Given the description of an element on the screen output the (x, y) to click on. 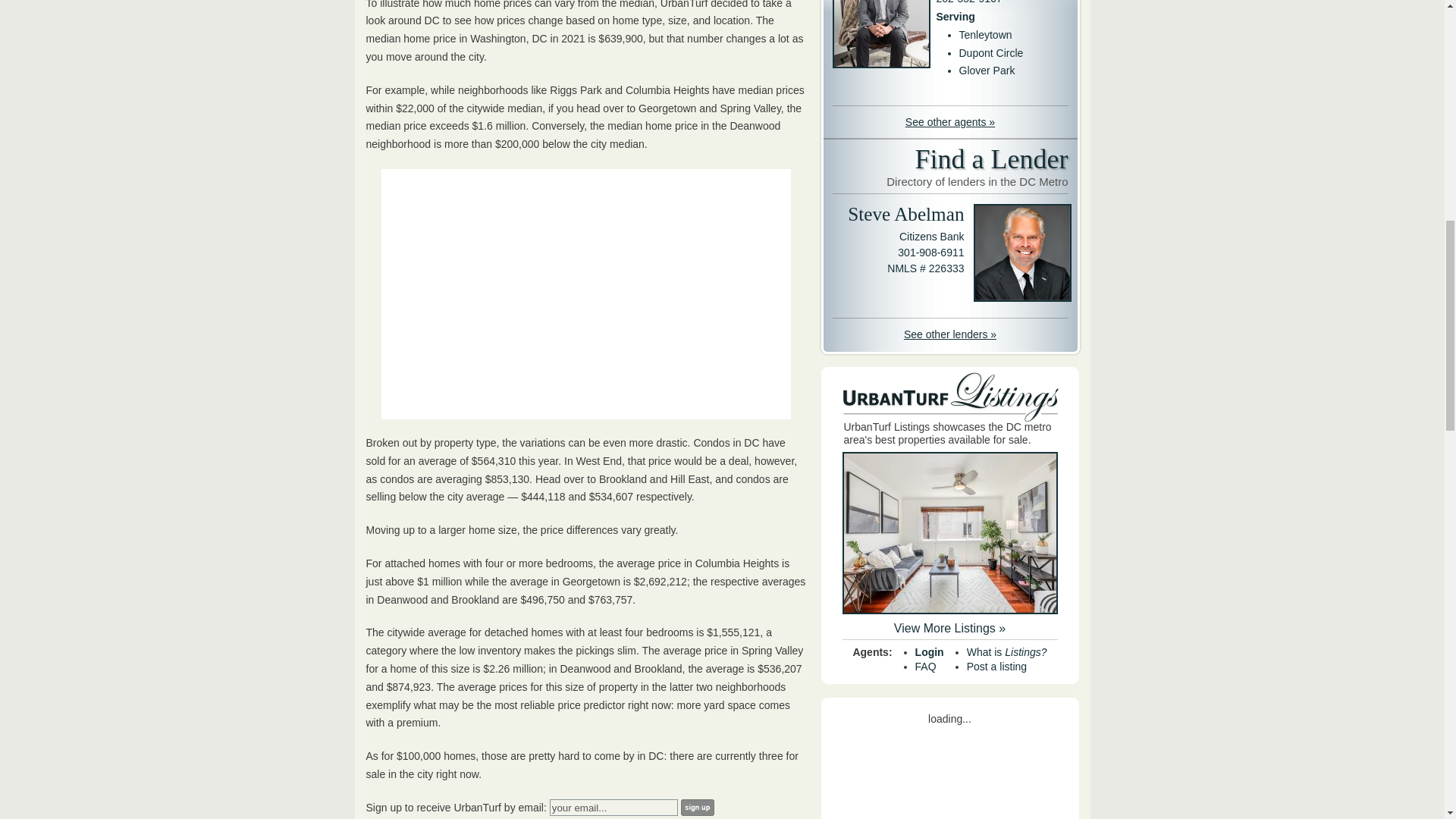
Post a listing (996, 666)
your email... (614, 807)
What is Listings? (1006, 652)
Login (929, 652)
FAQ (925, 666)
